Given the description of an element on the screen output the (x, y) to click on. 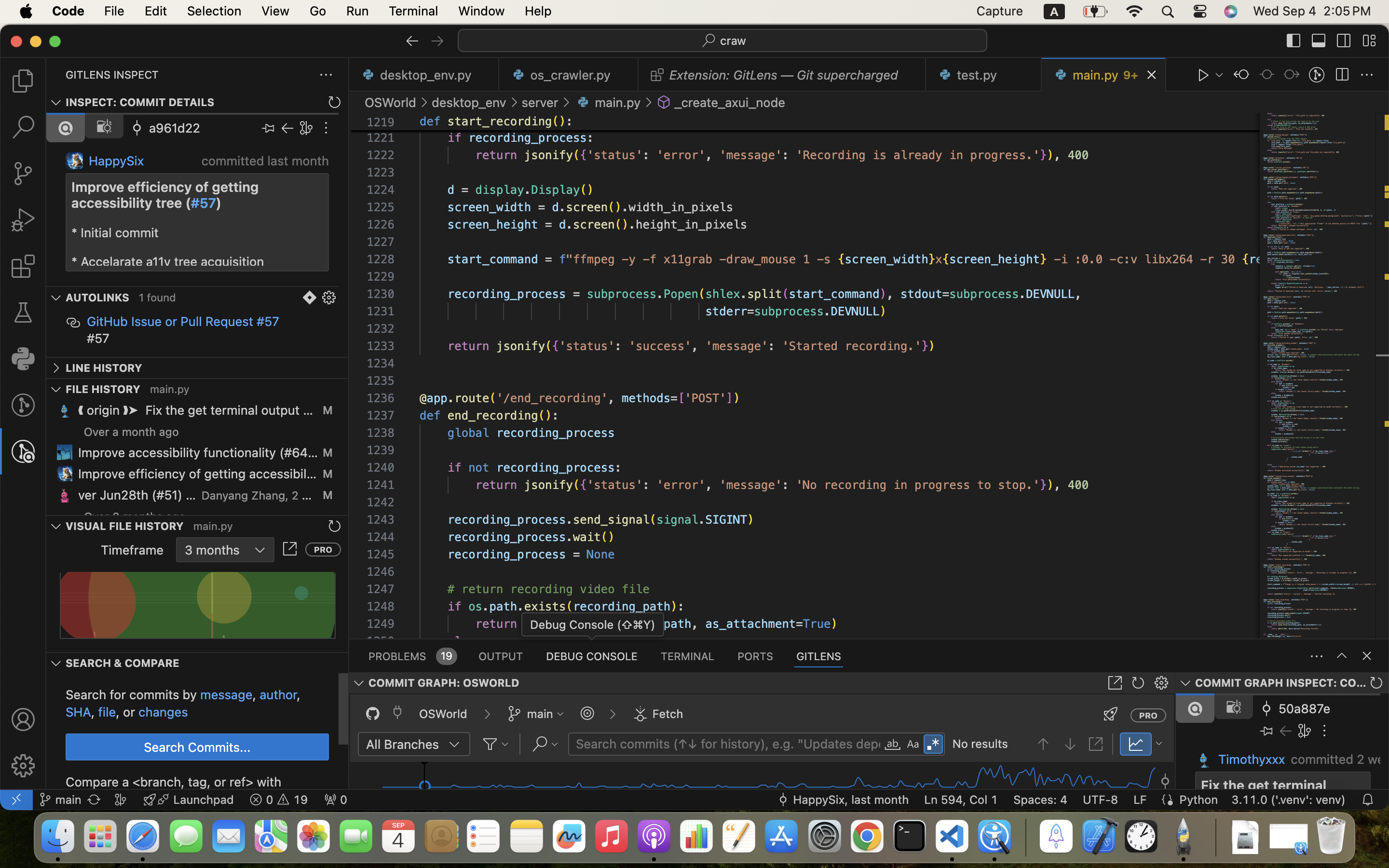
 Element type: AXStaticText (454, 744)
Danyang Zhang, 2 months ago Element type: AXStaticText (256, 495)
a961d22 Element type: AXStaticText (174, 127)
desktop_env Element type: AXGroup (469, 101)
HappySix Element type: AXStaticText (116, 160)
